Given the description of an element on the screen output the (x, y) to click on. 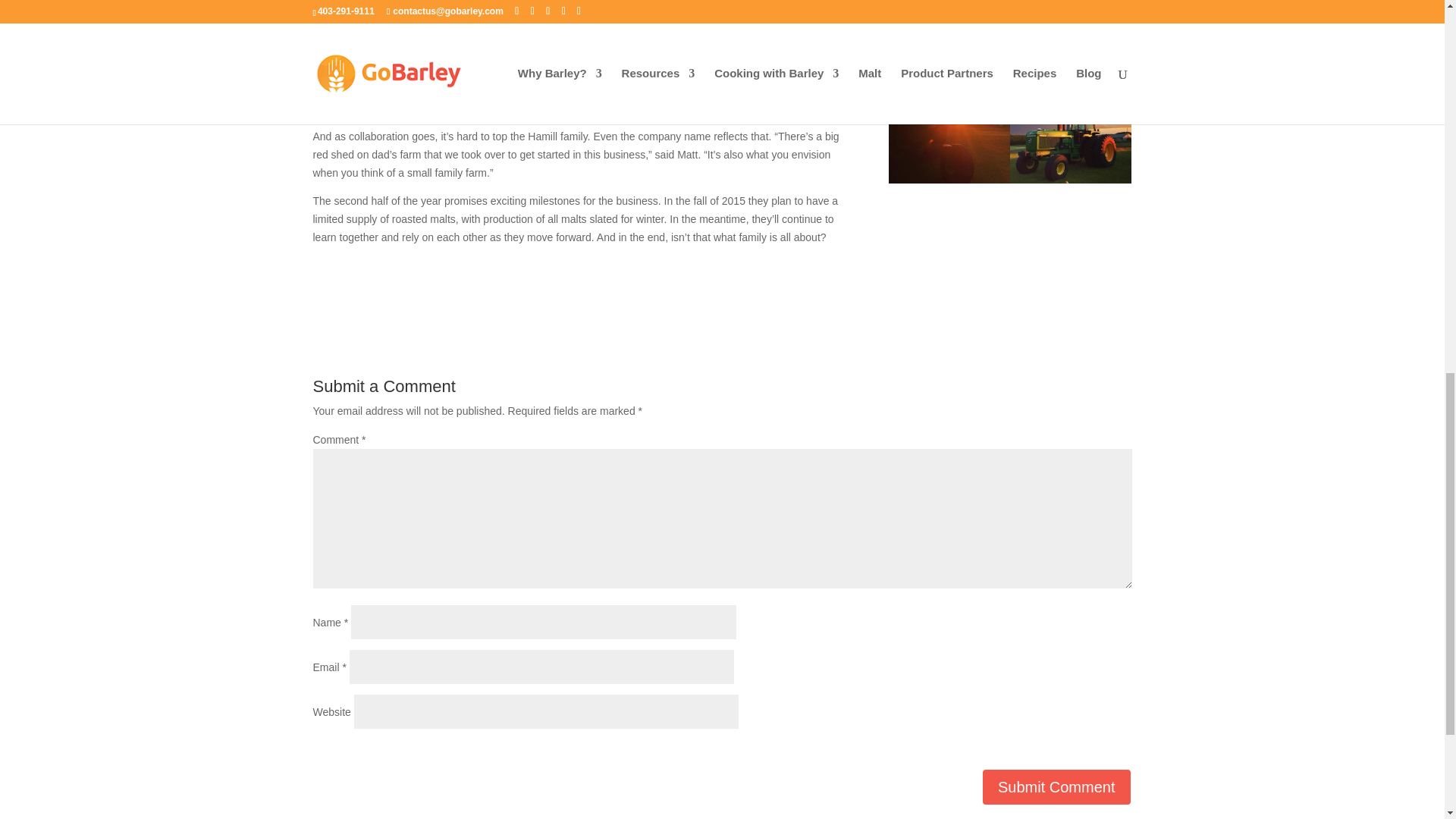
Submit Comment (1056, 786)
Submit Comment (1056, 786)
